Given the description of an element on the screen output the (x, y) to click on. 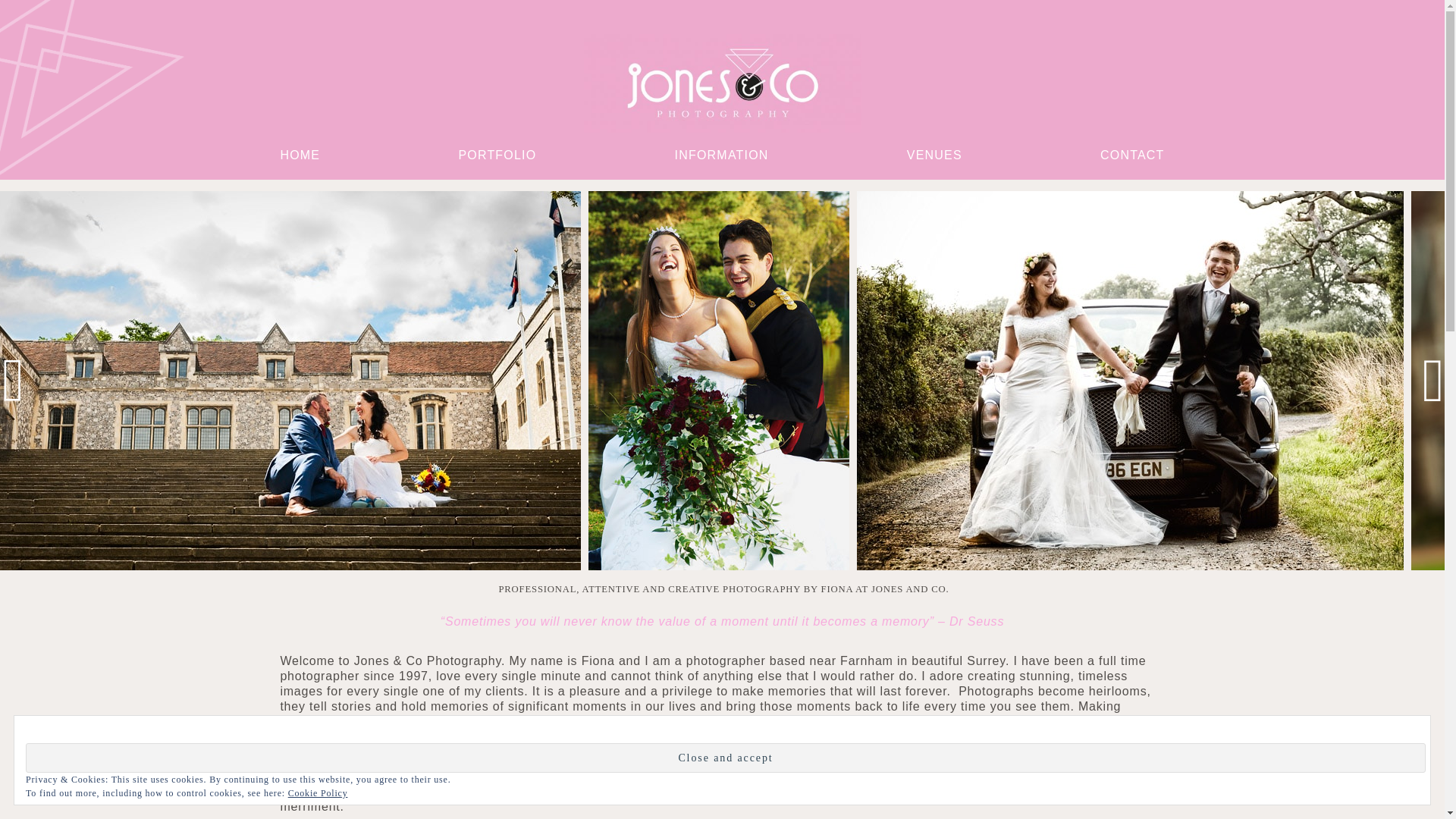
HOME (299, 154)
Close and accept (725, 757)
INFORMATION (721, 154)
CONTACT (1132, 154)
PORTFOLIO (496, 154)
VENUES (934, 154)
